Given the description of an element on the screen output the (x, y) to click on. 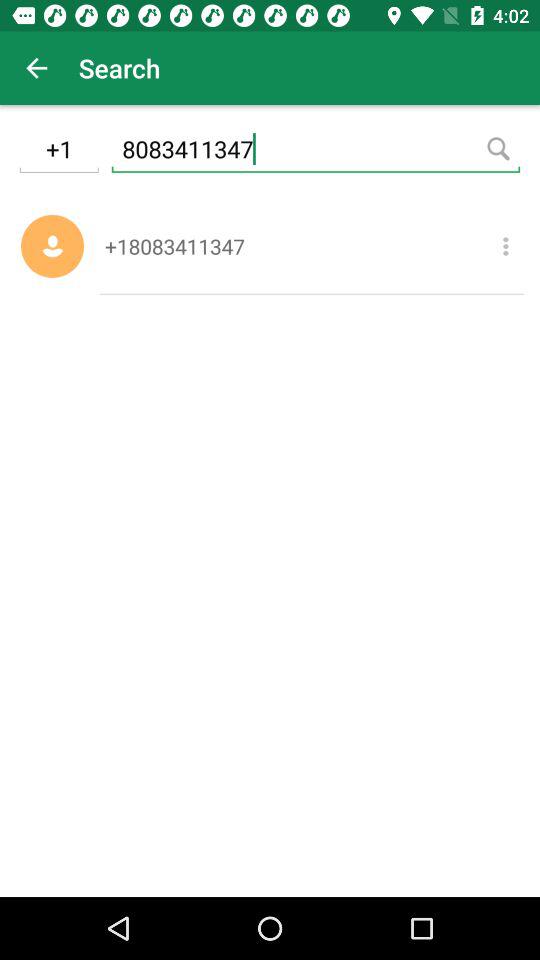
click icon next to +1 item (315, 151)
